Given the description of an element on the screen output the (x, y) to click on. 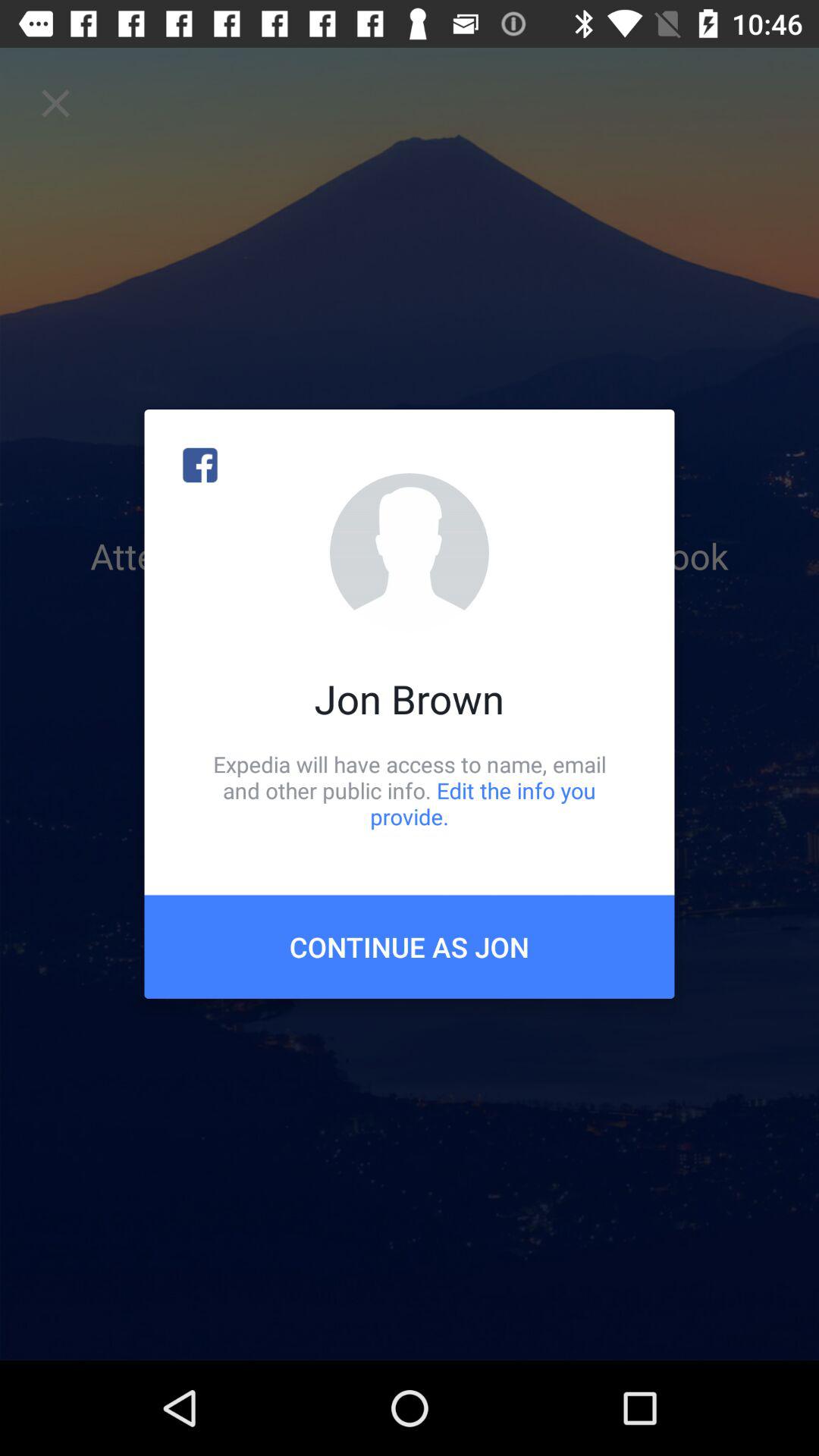
flip to the expedia will have item (409, 790)
